Given the description of an element on the screen output the (x, y) to click on. 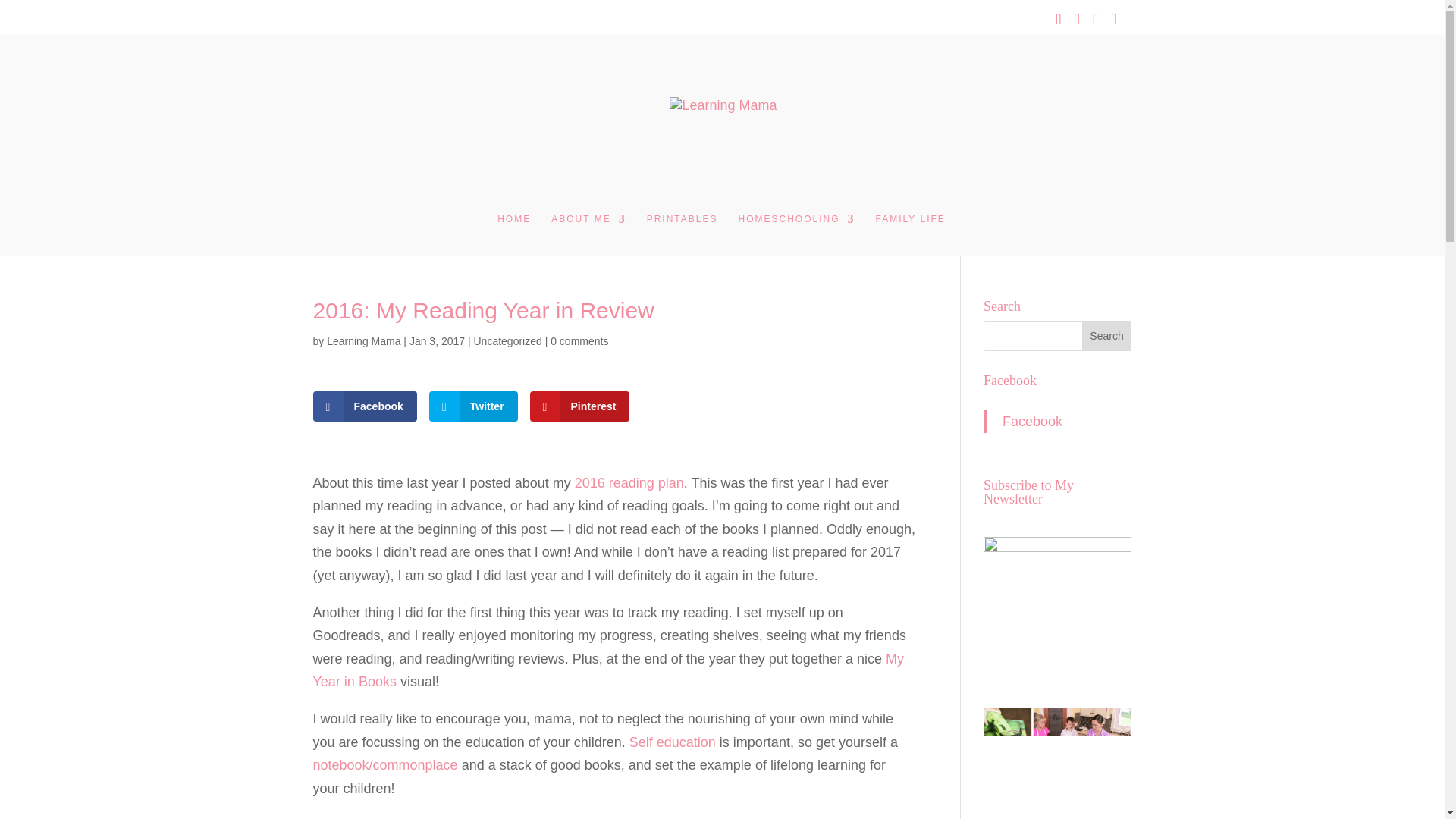
Posts by Learning Mama (363, 340)
Pinterest (578, 406)
0 comments (579, 340)
PRINTABLES (681, 234)
FAMILY LIFE (910, 234)
Self education (672, 742)
Facebook (364, 406)
Twitter (473, 406)
Search (1106, 335)
Learning Mama (363, 340)
